Given the description of an element on the screen output the (x, y) to click on. 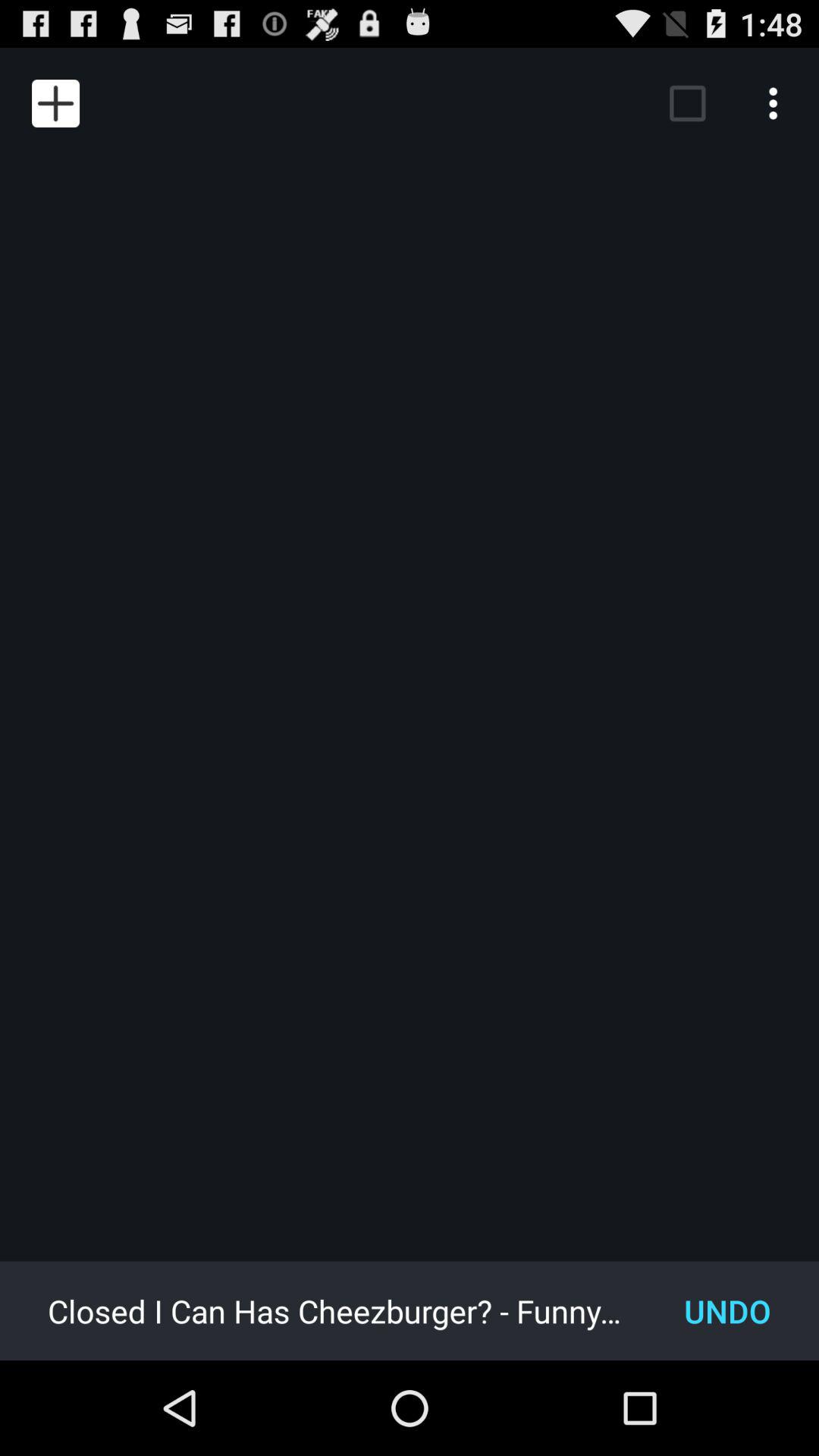
click item at the top left corner (55, 103)
